Given the description of an element on the screen output the (x, y) to click on. 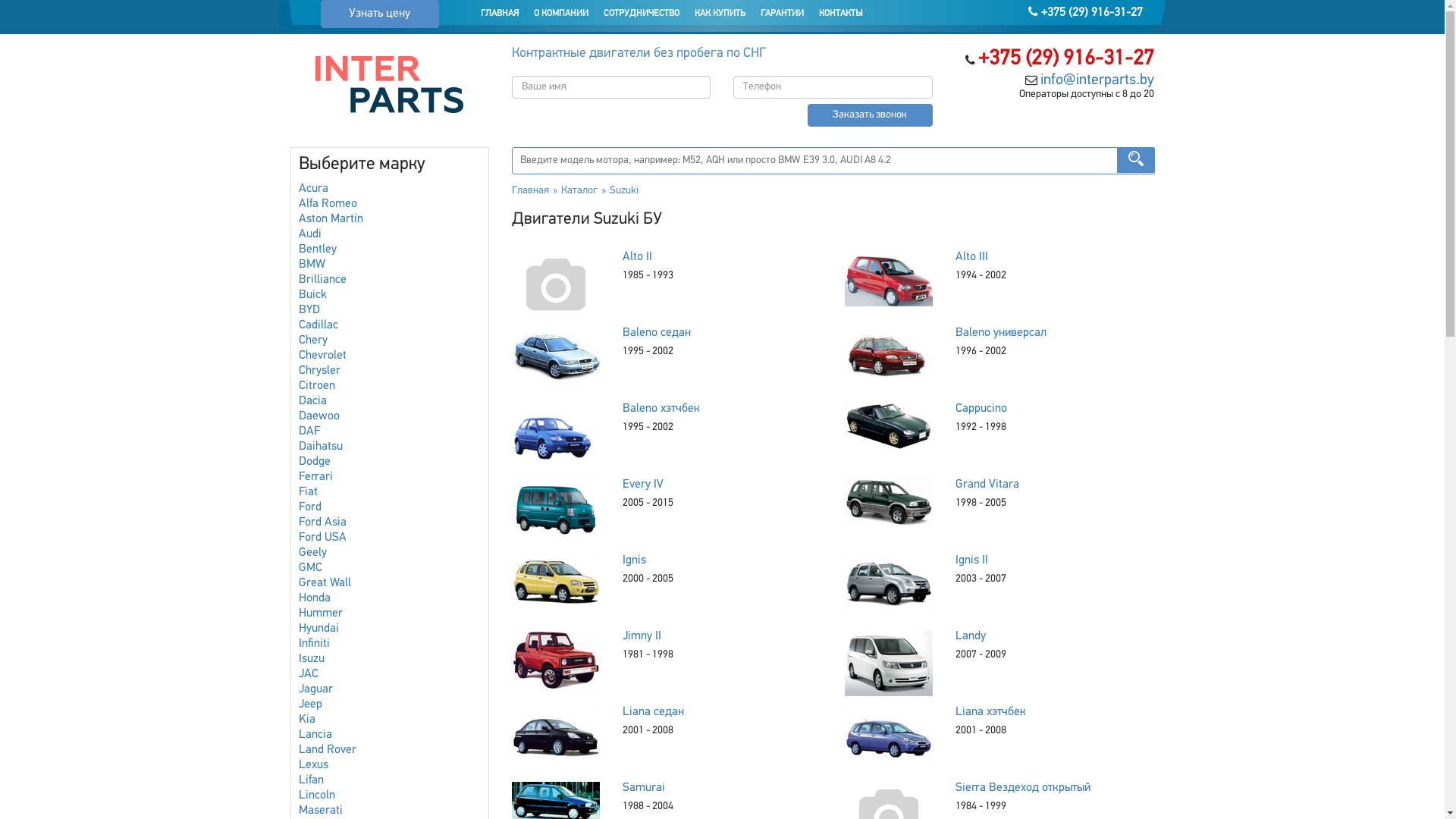
Chery Element type: text (312, 340)
Honda Element type: text (314, 598)
Ignis Element type: text (634, 560)
Chevrolet Element type: text (322, 355)
Acura Element type: text (313, 188)
Great Wall Element type: text (324, 583)
Brilliance Element type: text (322, 279)
Ford USA Element type: text (322, 537)
Grand Vitara Element type: text (987, 484)
Lexus Element type: text (313, 765)
Alto II Element type: text (637, 257)
Geely Element type: text (312, 552)
Lifan Element type: text (310, 780)
Buick Element type: text (312, 294)
Citroen Element type: text (316, 385)
Land Rover Element type: text (327, 749)
BYD Element type: text (309, 310)
Lancia Element type: text (315, 734)
Jaguar Element type: text (315, 689)
Bentley Element type: text (317, 249)
Daihatsu Element type: text (320, 446)
Infiniti Element type: text (313, 643)
Dodge Element type: text (314, 461)
Daewoo Element type: text (318, 416)
Cappucino Element type: text (981, 408)
Aston Martin Element type: text (330, 219)
Dacia Element type: text (312, 401)
Samurai Element type: text (643, 787)
 +375 (29) 916-31-27 Element type: text (1085, 12)
Hyundai Element type: text (318, 628)
Fiat Element type: text (307, 492)
Kia Element type: text (306, 719)
Ferrari Element type: text (315, 476)
BMW Element type: text (311, 264)
Isuzu Element type: text (311, 658)
info@interparts.by Element type: text (1097, 79)
Every IV Element type: text (642, 484)
Cadillac Element type: text (318, 325)
Lincoln Element type: text (316, 795)
Audi Element type: text (309, 234)
Ignis II Element type: text (971, 560)
GMC Element type: text (310, 567)
Jeep Element type: text (310, 704)
Jimny II Element type: text (641, 636)
DAF Element type: text (309, 431)
JAC Element type: text (308, 674)
Alto III Element type: text (971, 257)
Maserati Element type: text (320, 810)
Ford Asia Element type: text (322, 522)
Landy Element type: text (970, 636)
Alfa Romeo Element type: text (327, 203)
Chrysler Element type: text (319, 370)
+375 (29) 916-31-27 Element type: text (1066, 58)
Ford Element type: text (309, 507)
Hummer Element type: text (320, 613)
